Given the description of an element on the screen output the (x, y) to click on. 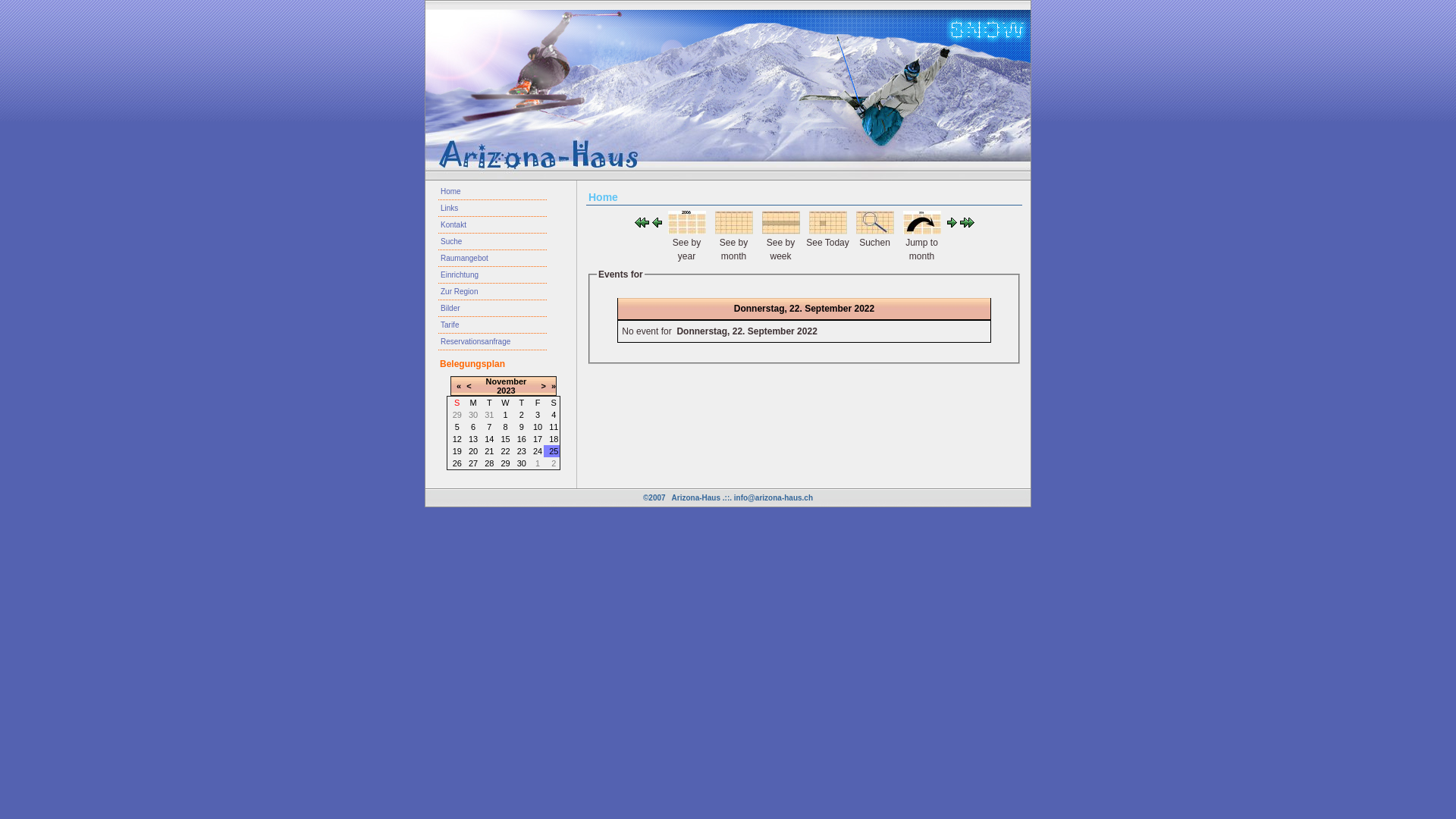
6 Element type: text (472, 426)
Bilder Element type: text (492, 308)
Suchen Element type: hover (874, 230)
29 Element type: text (504, 462)
Raumangebot Element type: text (492, 258)
20 Element type: text (472, 450)
18 Element type: text (553, 438)
2 Element type: text (521, 414)
Kontakt Element type: text (492, 224)
Reservationsanfrage Element type: text (492, 341)
15 Element type: text (504, 438)
Tarife Element type: text (492, 324)
4 Element type: text (553, 414)
Einrichtung Element type: text (492, 274)
27 Element type: text (472, 462)
8 Element type: text (504, 426)
Links Element type: text (492, 208)
Next day Element type: hover (951, 224)
1 Element type: text (504, 414)
21 Element type: text (488, 450)
26 Element type: text (456, 462)
5 Element type: text (457, 426)
30 Element type: text (521, 462)
22 Element type: text (504, 450)
Suche Element type: text (492, 241)
3 Element type: text (537, 414)
12 Element type: text (456, 438)
Arizona-Haus Element type: text (695, 497)
Zur Region Element type: text (492, 291)
19 Element type: text (456, 450)
> Element type: text (542, 385)
Next month Element type: hover (967, 224)
Home Element type: text (492, 191)
info@arizona-haus.ch Element type: text (773, 497)
November Element type: text (506, 380)
2023 Element type: text (505, 390)
23 Element type: text (521, 450)
Previous day Element type: hover (657, 224)
13 Element type: text (472, 438)
25 Element type: text (553, 450)
17 Element type: text (537, 438)
14 Element type: text (488, 438)
16 Element type: text (521, 438)
See Today Element type: hover (827, 230)
Jump to month Element type: hover (921, 230)
See by week Element type: hover (780, 230)
< Element type: text (468, 385)
See by year Element type: hover (686, 230)
Previous month Element type: hover (640, 224)
9 Element type: text (521, 426)
24 Element type: text (537, 450)
10 Element type: text (537, 426)
7 Element type: text (488, 426)
See by month Element type: hover (733, 230)
11 Element type: text (553, 426)
28 Element type: text (488, 462)
